Given the description of an element on the screen output the (x, y) to click on. 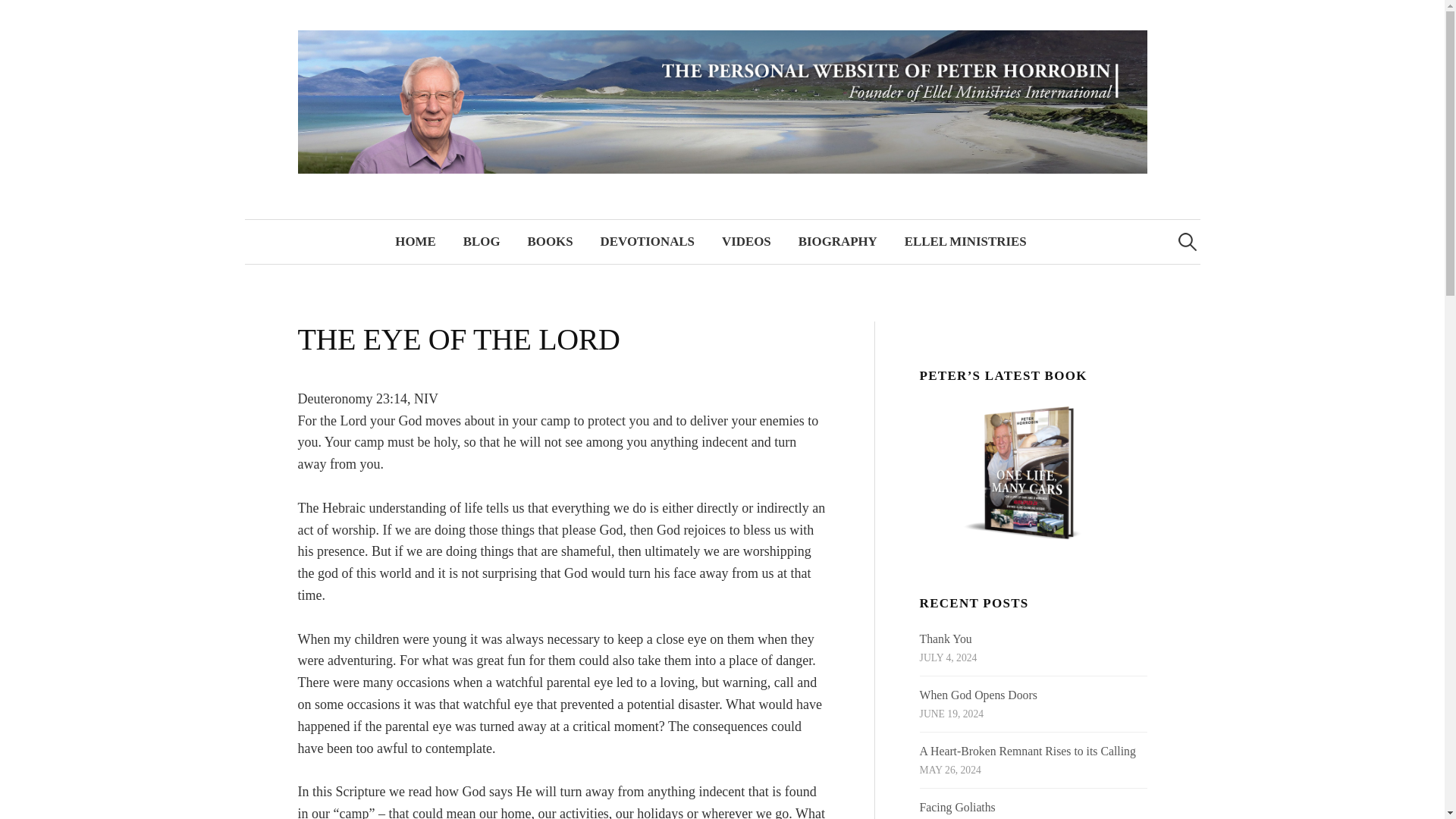
VIDEOS (745, 241)
HOME (414, 241)
BOOKS (549, 241)
A Heart-Broken Remnant Rises to its Calling (1027, 750)
ELLEL MINISTRIES (966, 241)
BIOGRAPHY (837, 241)
BLOG (481, 241)
Thank You (946, 638)
Search (18, 18)
When God Opens Doors (978, 694)
Facing Goliaths (957, 807)
DEVOTIONALS (646, 241)
